Given the description of an element on the screen output the (x, y) to click on. 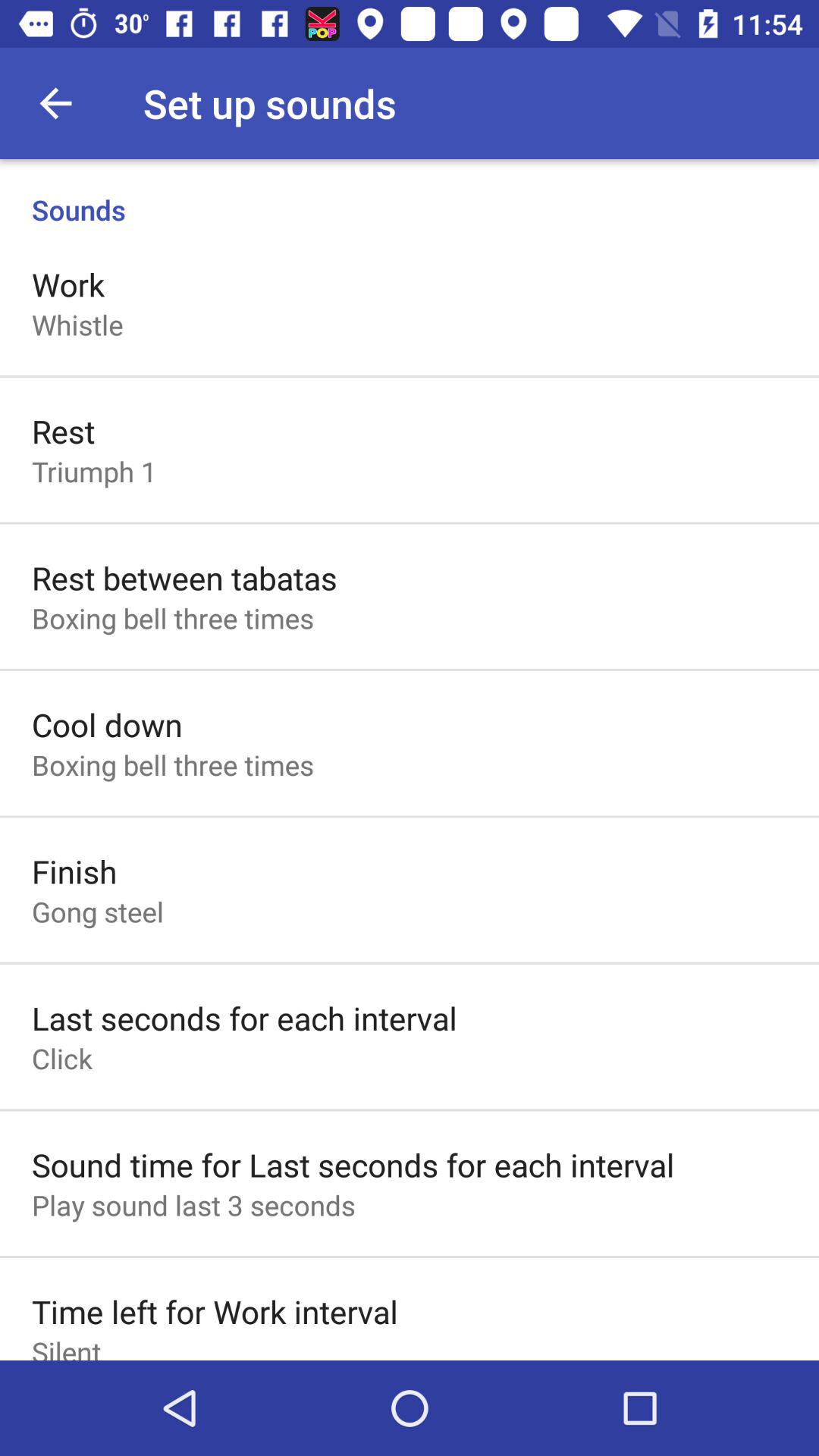
click the rest between tabatas item (184, 577)
